Given the description of an element on the screen output the (x, y) to click on. 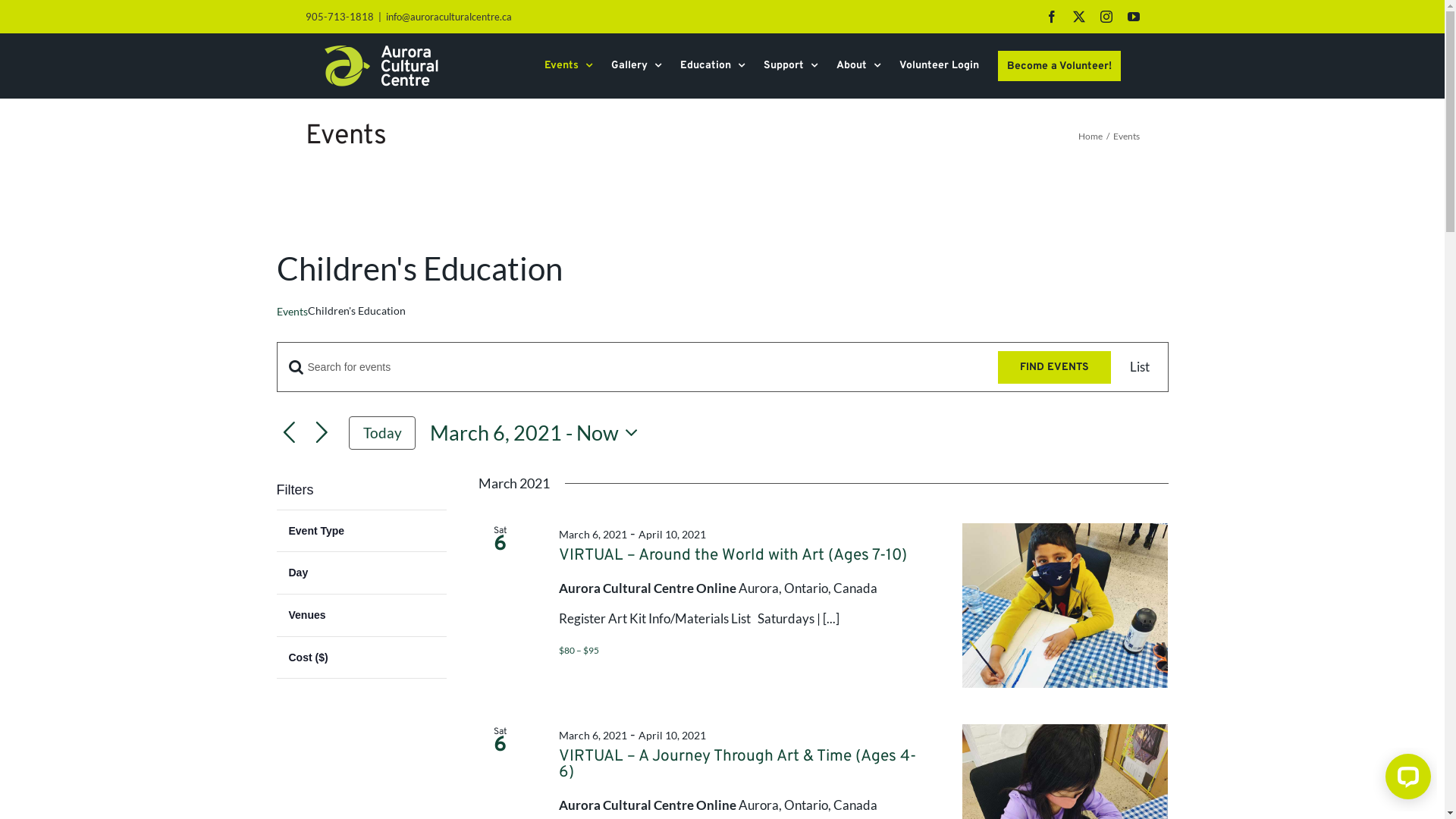
Home Element type: text (1090, 135)
Become a Volunteer! Element type: text (1058, 65)
FIND EVENTS Element type: text (1053, 367)
Gallery Element type: text (636, 65)
Previous Events Element type: hover (288, 432)
Cost ($)
Open filter Element type: text (360, 657)
YouTube Element type: text (1132, 16)
Twitter Element type: text (1078, 16)
info@auroraculturalcentre.ca Element type: text (448, 16)
Support Element type: text (789, 65)
Venues
Open filter Element type: text (360, 615)
List Element type: text (1139, 366)
Day
Open filter Element type: text (360, 572)
About Element type: text (857, 65)
LiveChat chat widget Element type: hover (1405, 779)
Facebook Element type: text (1050, 16)
Events Element type: text (291, 311)
Education Element type: text (711, 65)
Events Element type: text (568, 65)
Volunteer Login Element type: text (939, 65)
Next Events Element type: hover (321, 432)
Instagram Element type: text (1105, 16)
Event Type
Open filter Element type: text (360, 531)
March 6, 2021
 - 
Now Element type: text (537, 433)
Today Element type: text (381, 432)
